Given the description of an element on the screen output the (x, y) to click on. 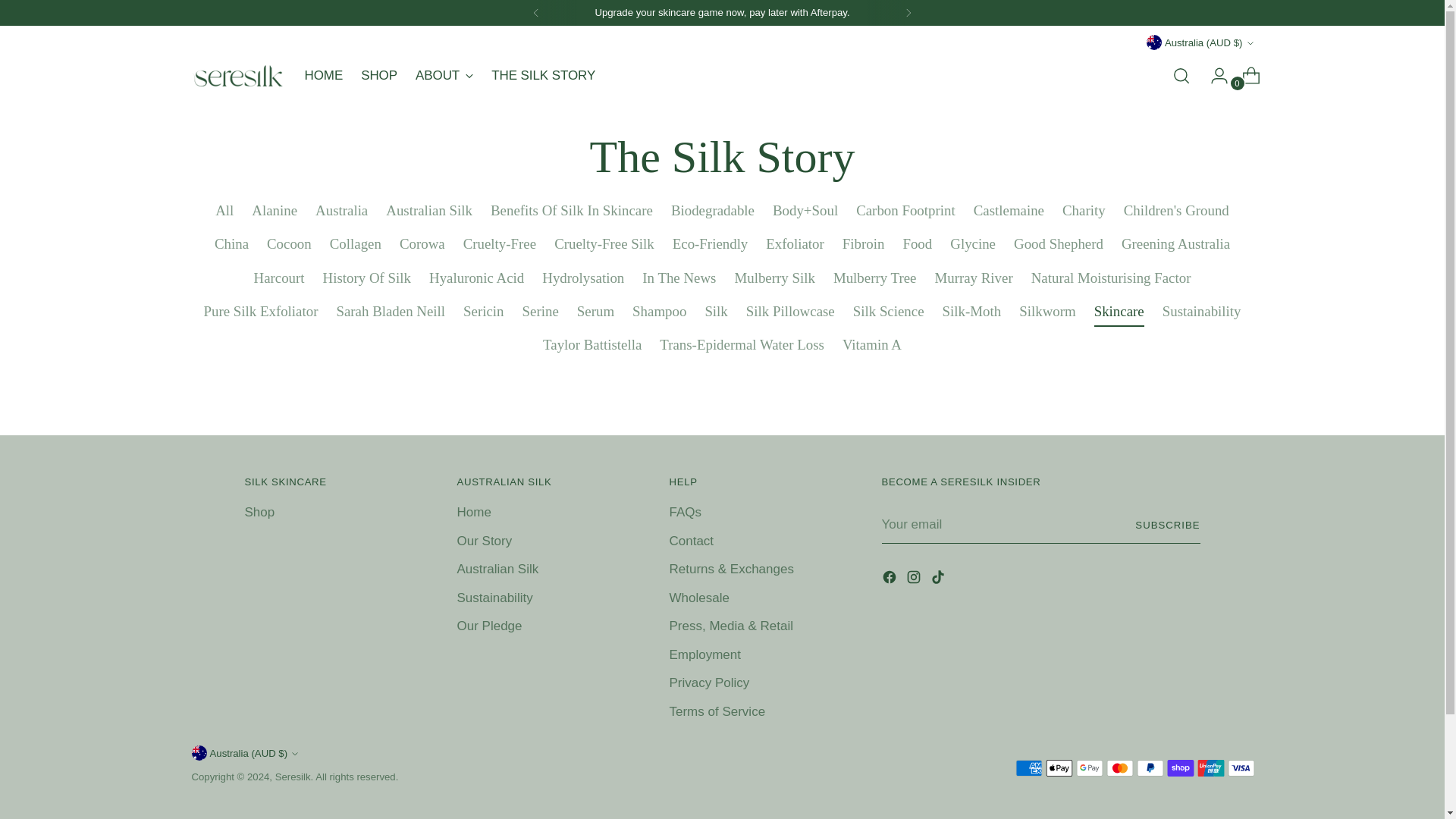
Next (448, 75)
Previous (907, 12)
